Given the description of an element on the screen output the (x, y) to click on. 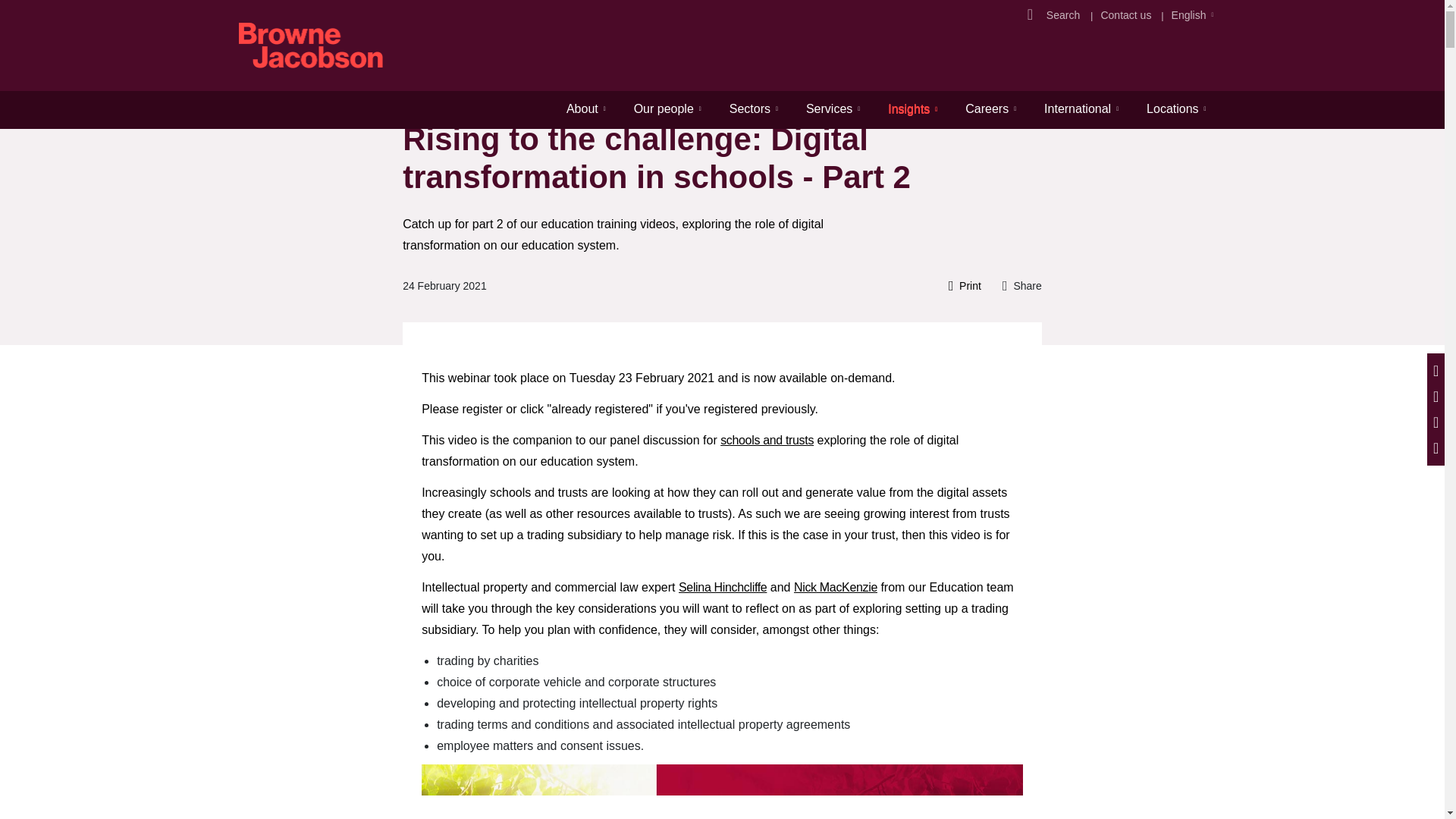
Contact us (1125, 15)
Search (1064, 15)
About (585, 108)
English (1189, 15)
